Given the description of an element on the screen output the (x, y) to click on. 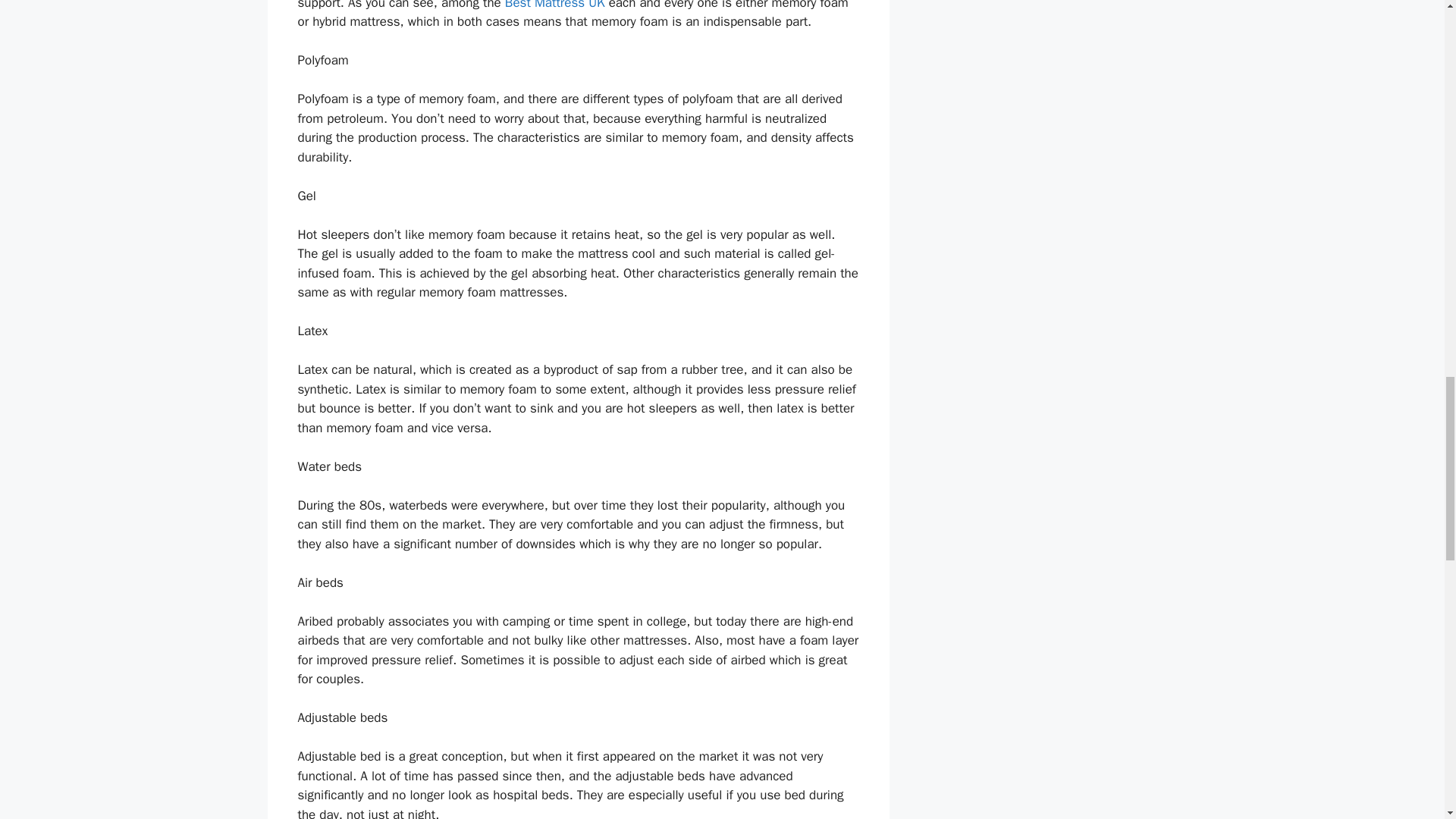
Best Mattress UK (555, 5)
